Given the description of an element on the screen output the (x, y) to click on. 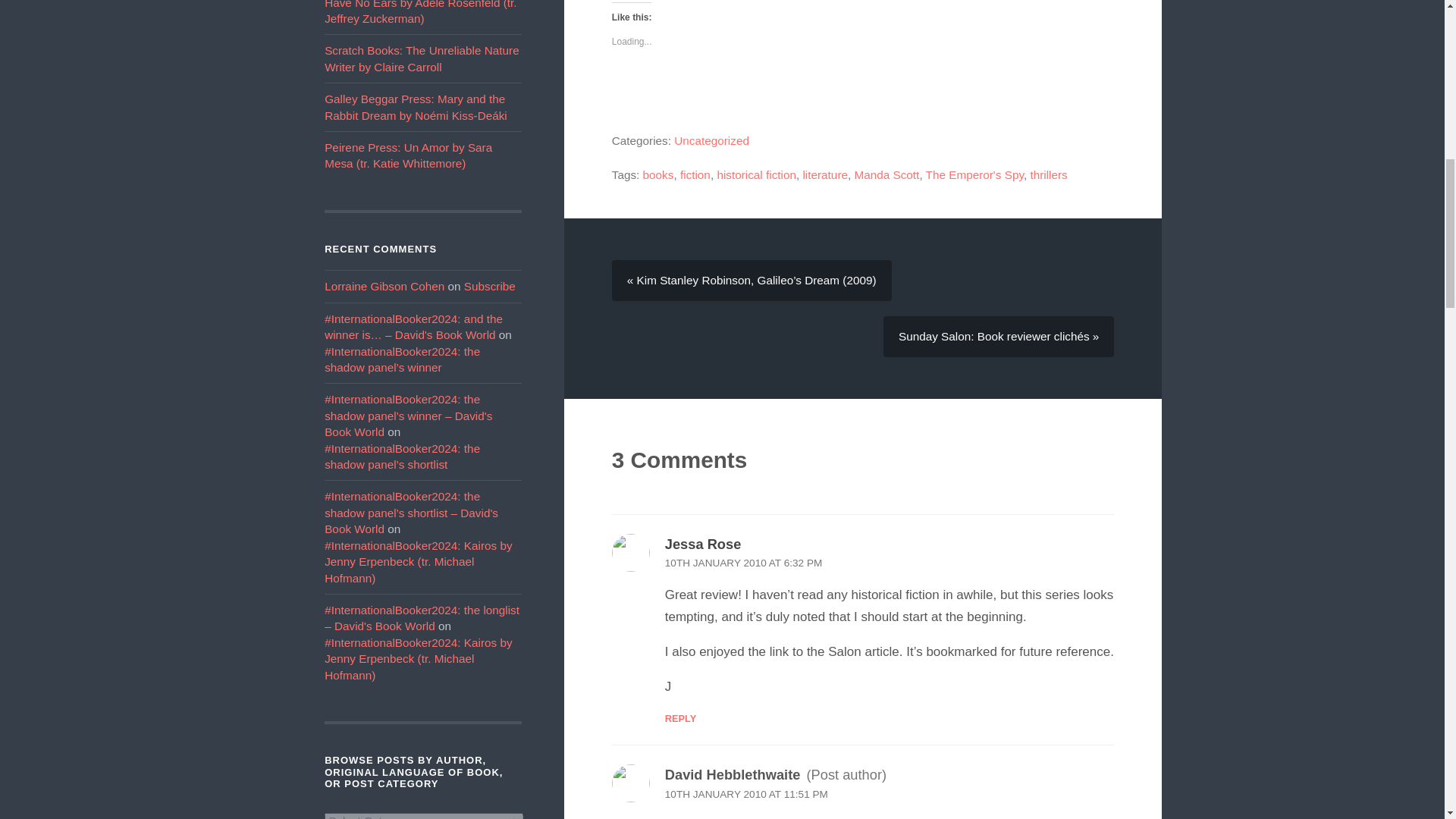
Lorraine Gibson Cohen (384, 286)
Subscribe (489, 286)
